Given the description of an element on the screen output the (x, y) to click on. 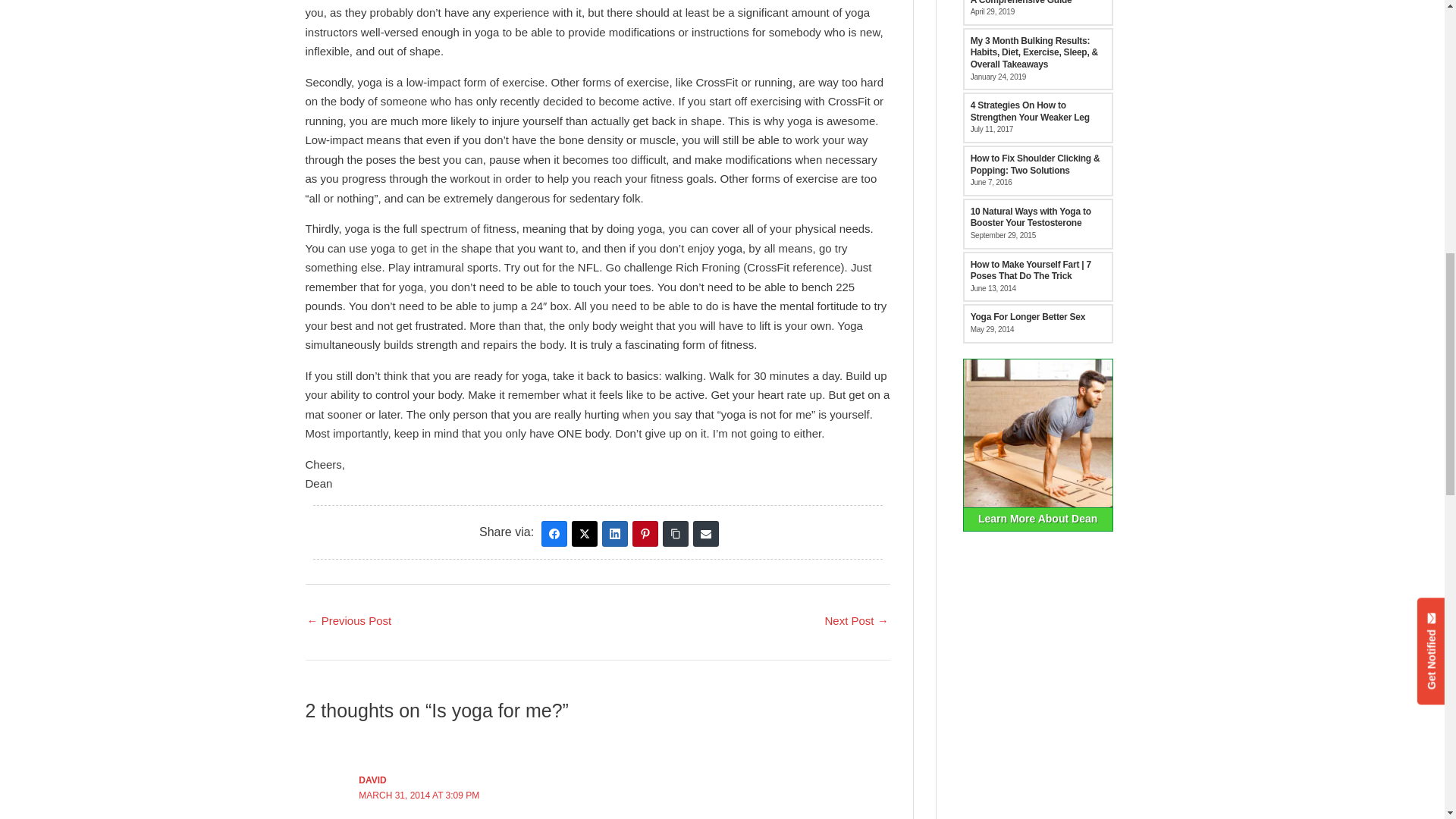
Building Lean Muscle (348, 622)
MARCH 31, 2014 AT 3:09 PM (418, 795)
Follow your passion (856, 622)
Learn more about Dean, Founder of Man Flow Yoga (1037, 444)
